Given the description of an element on the screen output the (x, y) to click on. 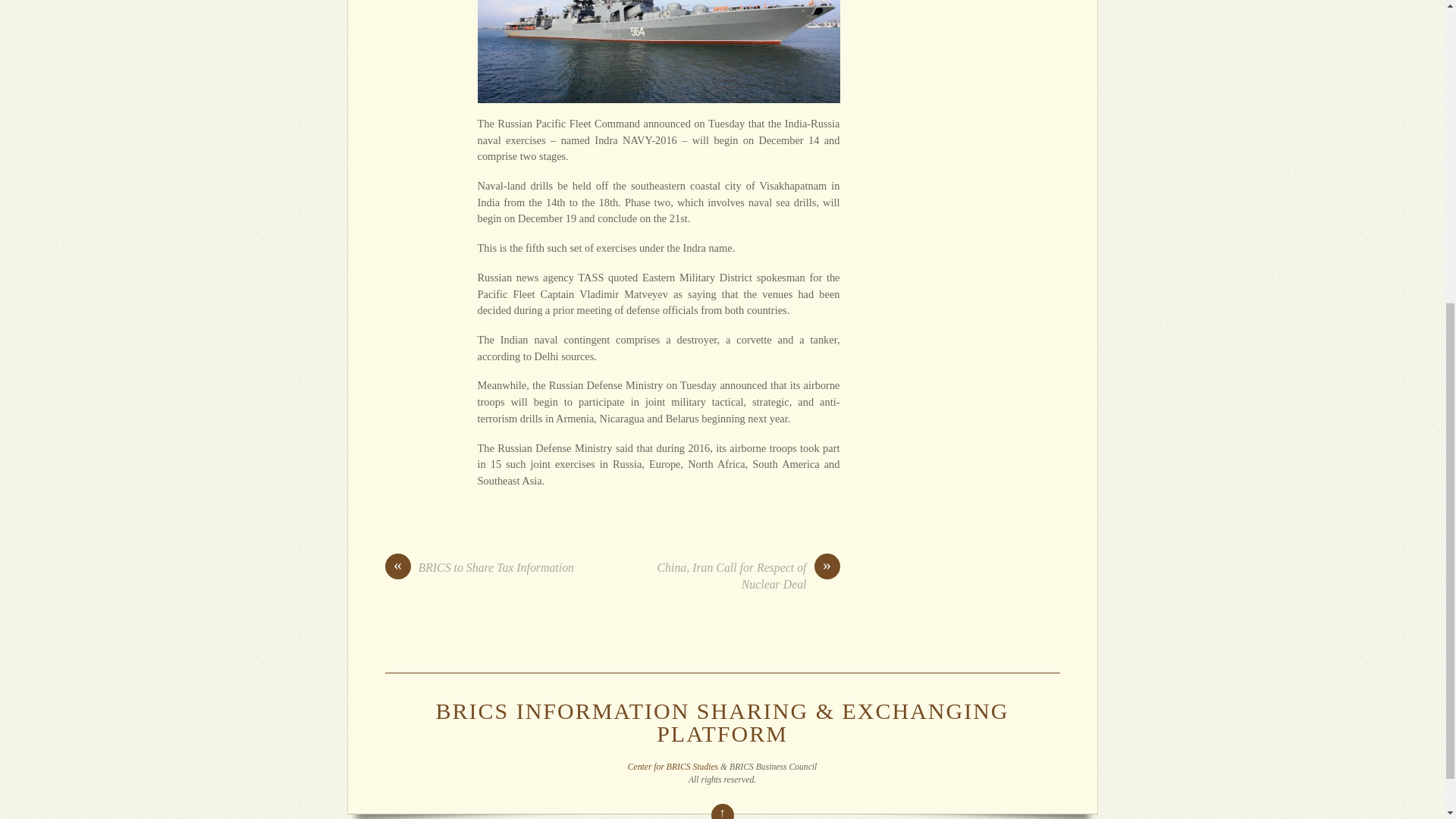
Center for BRICS Studies (672, 767)
